Given the description of an element on the screen output the (x, y) to click on. 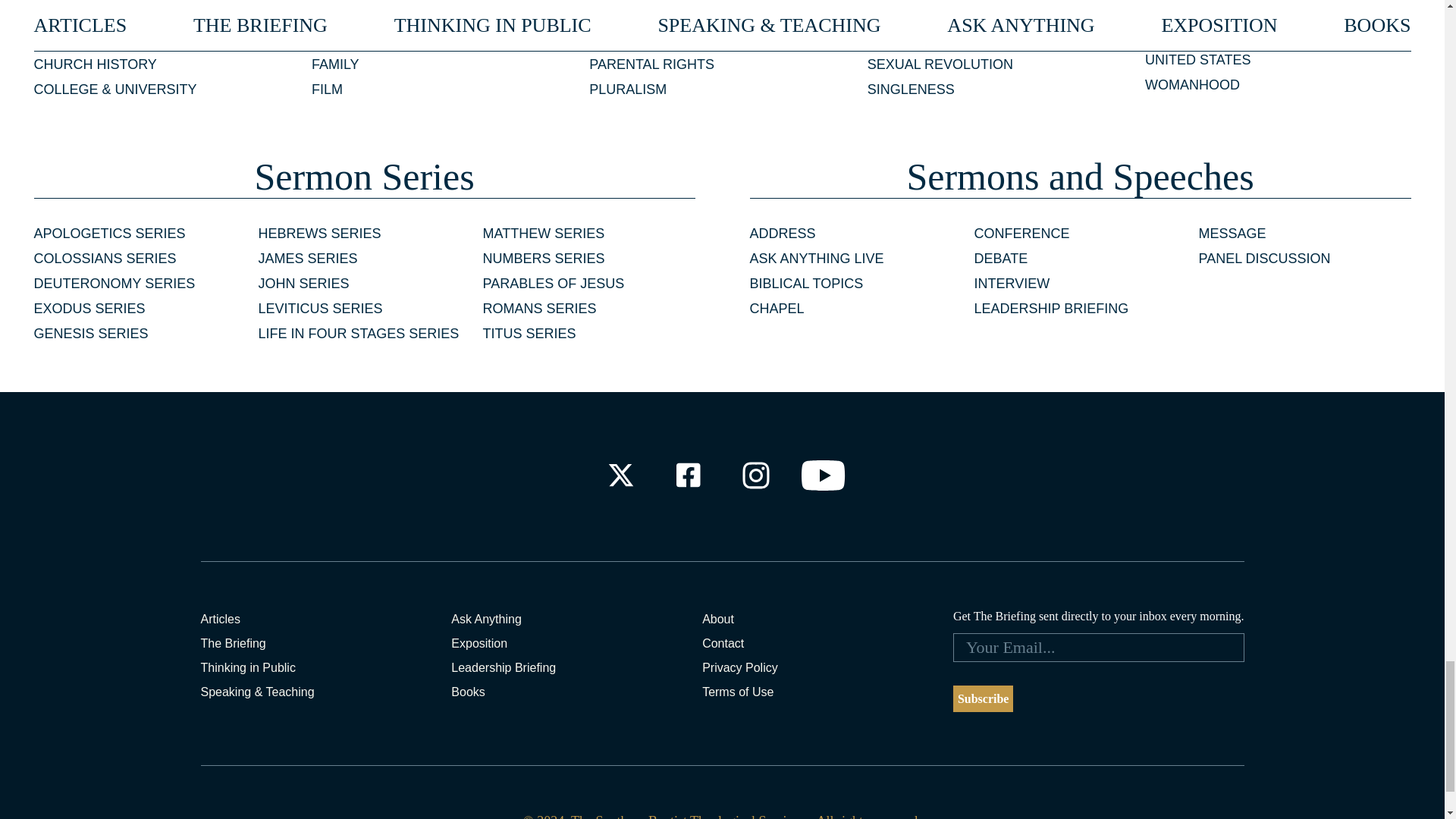
Check out our Instagram Profile (755, 474)
Subscribe (983, 698)
Check out our X Profile (620, 474)
Check out our Youtube Channel (822, 474)
Check out our Facebook Profile (687, 474)
